Given the description of an element on the screen output the (x, y) to click on. 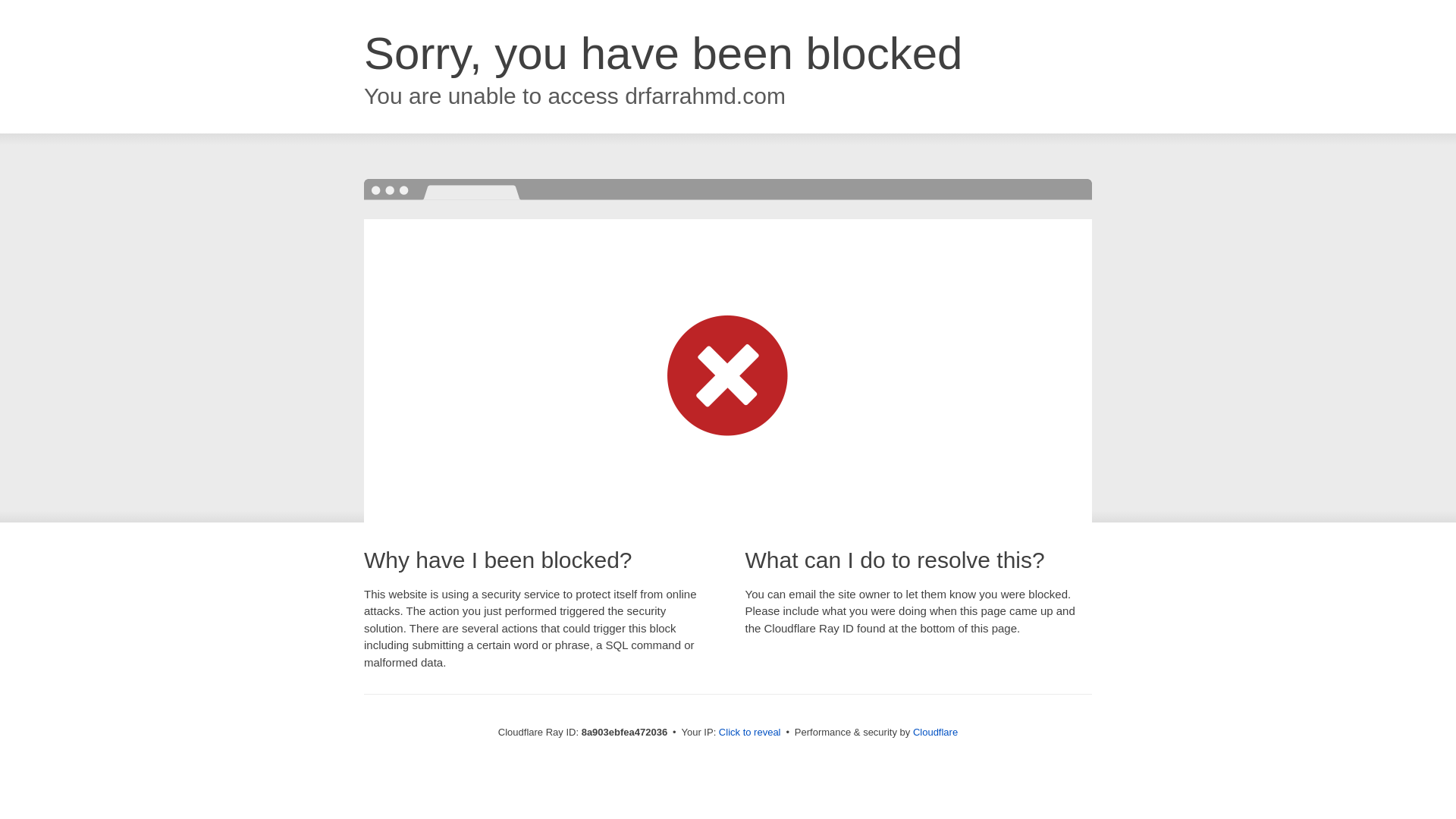
Click to reveal (749, 732)
Cloudflare (935, 731)
